Given the description of an element on the screen output the (x, y) to click on. 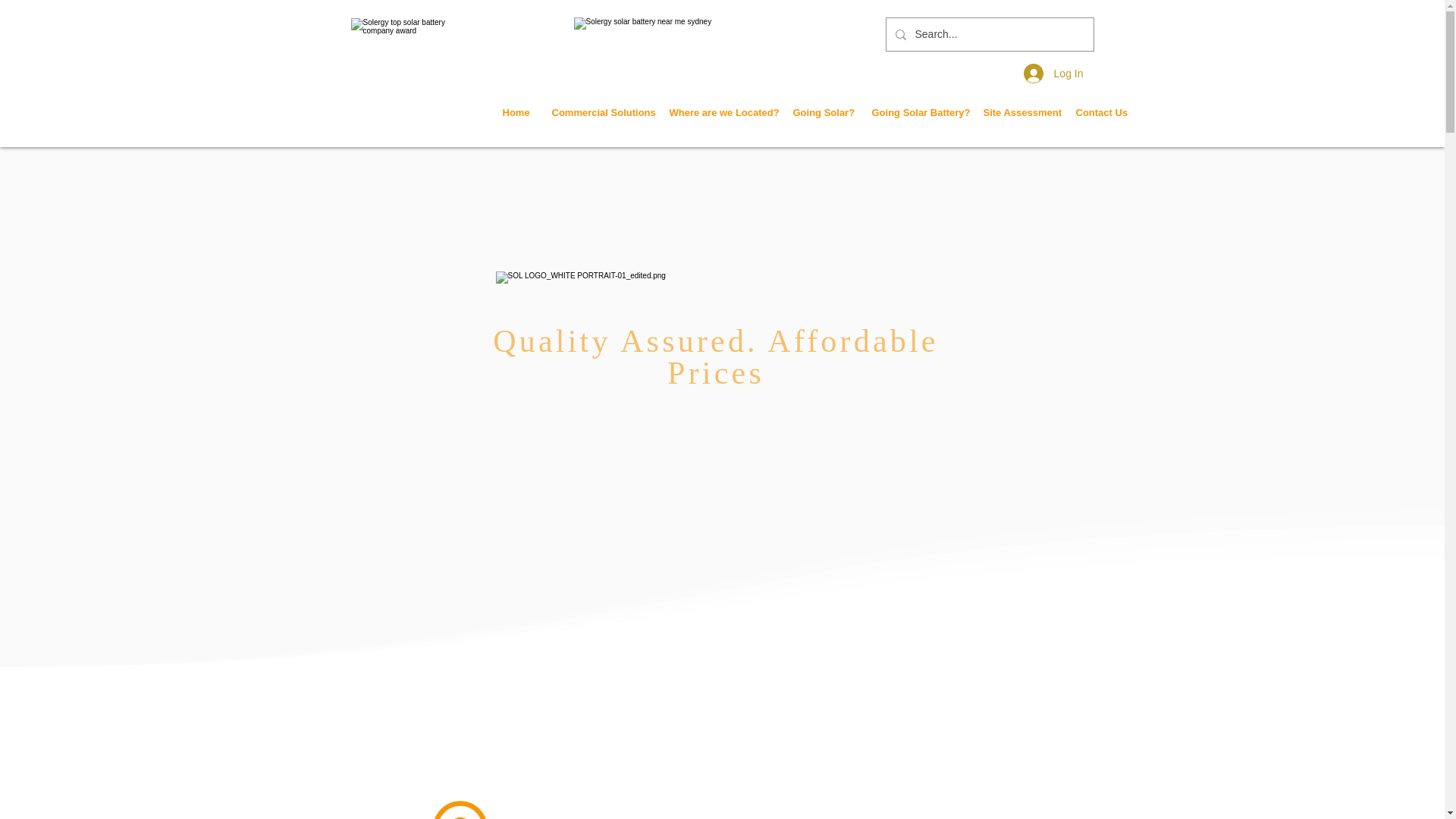
Log In (1053, 72)
Going Solar Battery? (915, 112)
Where are we Located? (719, 112)
Top Supplier.png (407, 53)
Site Assessment (1018, 112)
Going Solar? (820, 112)
Home (516, 112)
Commercial Solutions (599, 112)
Contact Us (1099, 112)
